Given the description of an element on the screen output the (x, y) to click on. 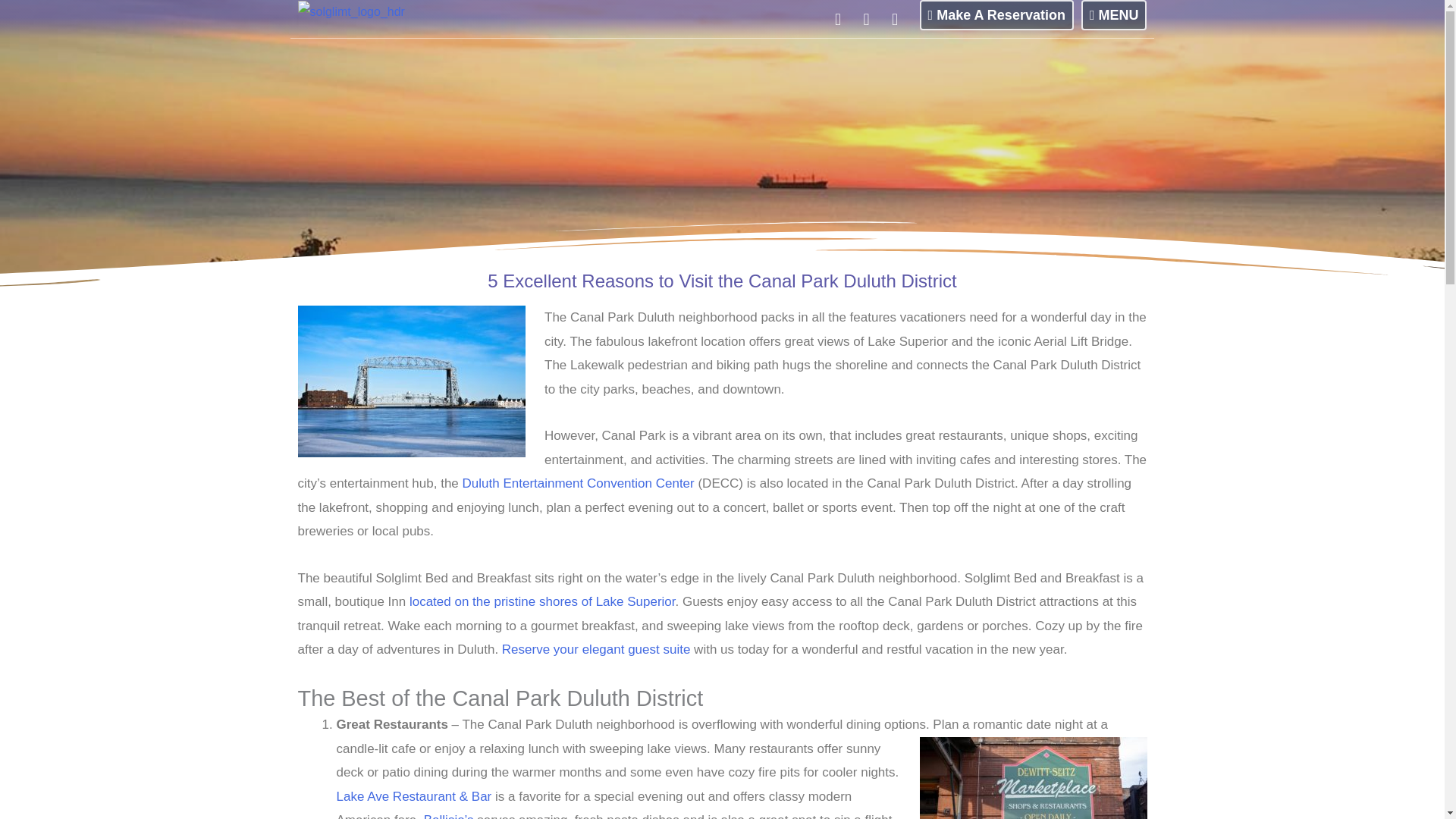
Duluth Entertainment Convention Center (578, 482)
Make A Reservation (997, 15)
located on the pristine shores of Lake Superior (542, 601)
MENU (1114, 15)
Reserve your elegant guest suite (596, 649)
